Given the description of an element on the screen output the (x, y) to click on. 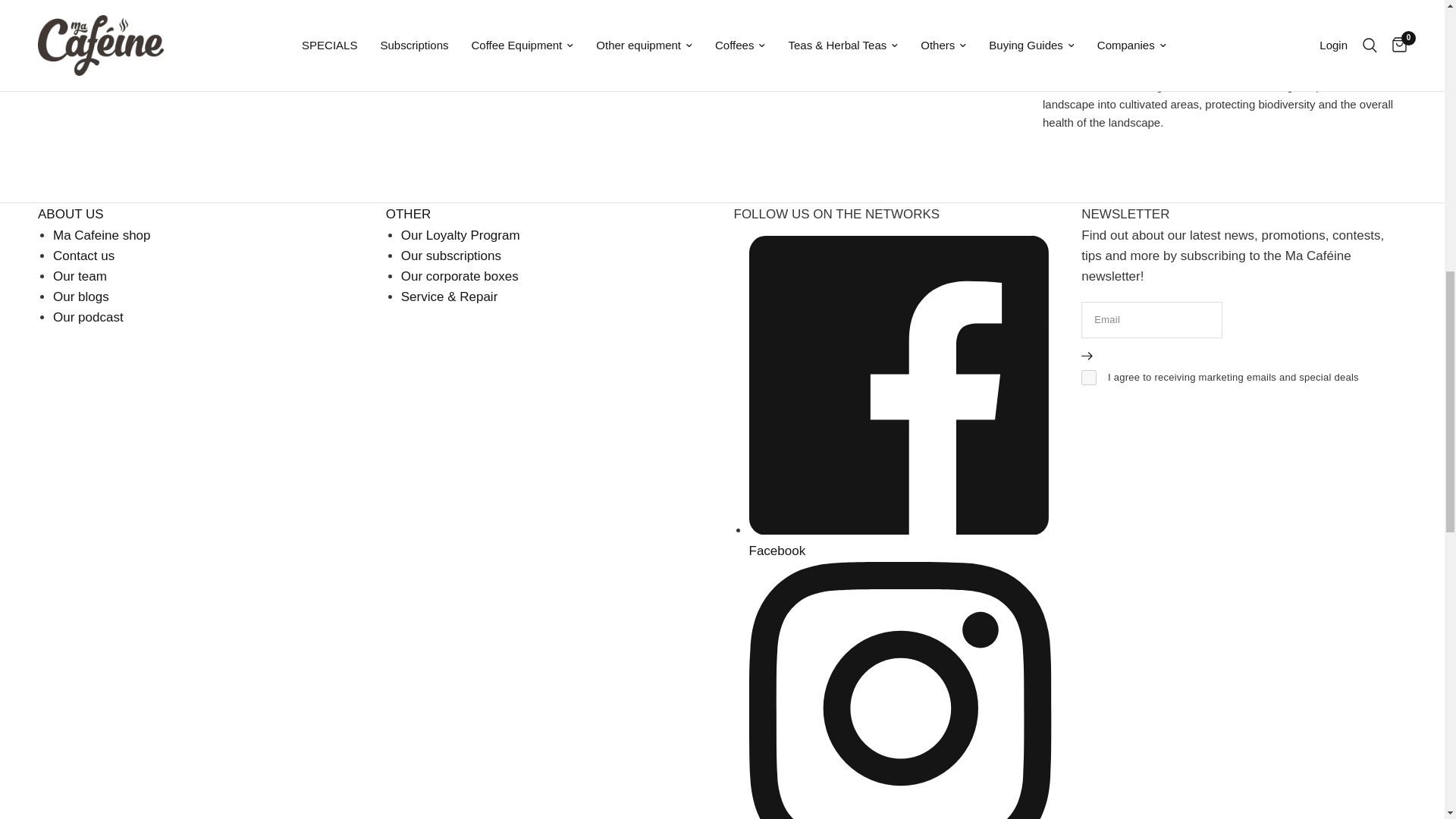
on (1088, 377)
